Given the description of an element on the screen output the (x, y) to click on. 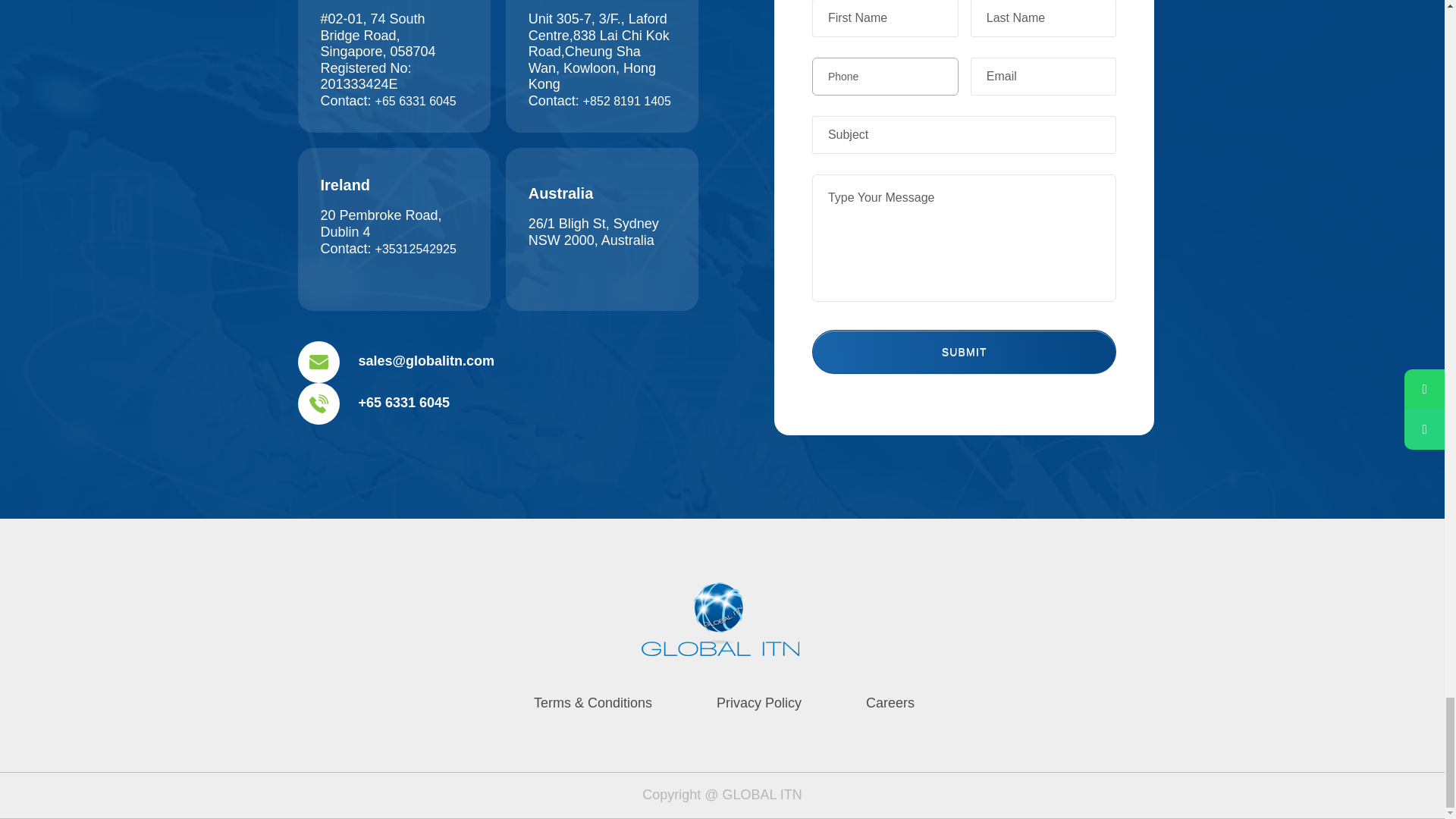
Submit (964, 352)
